Given the description of an element on the screen output the (x, y) to click on. 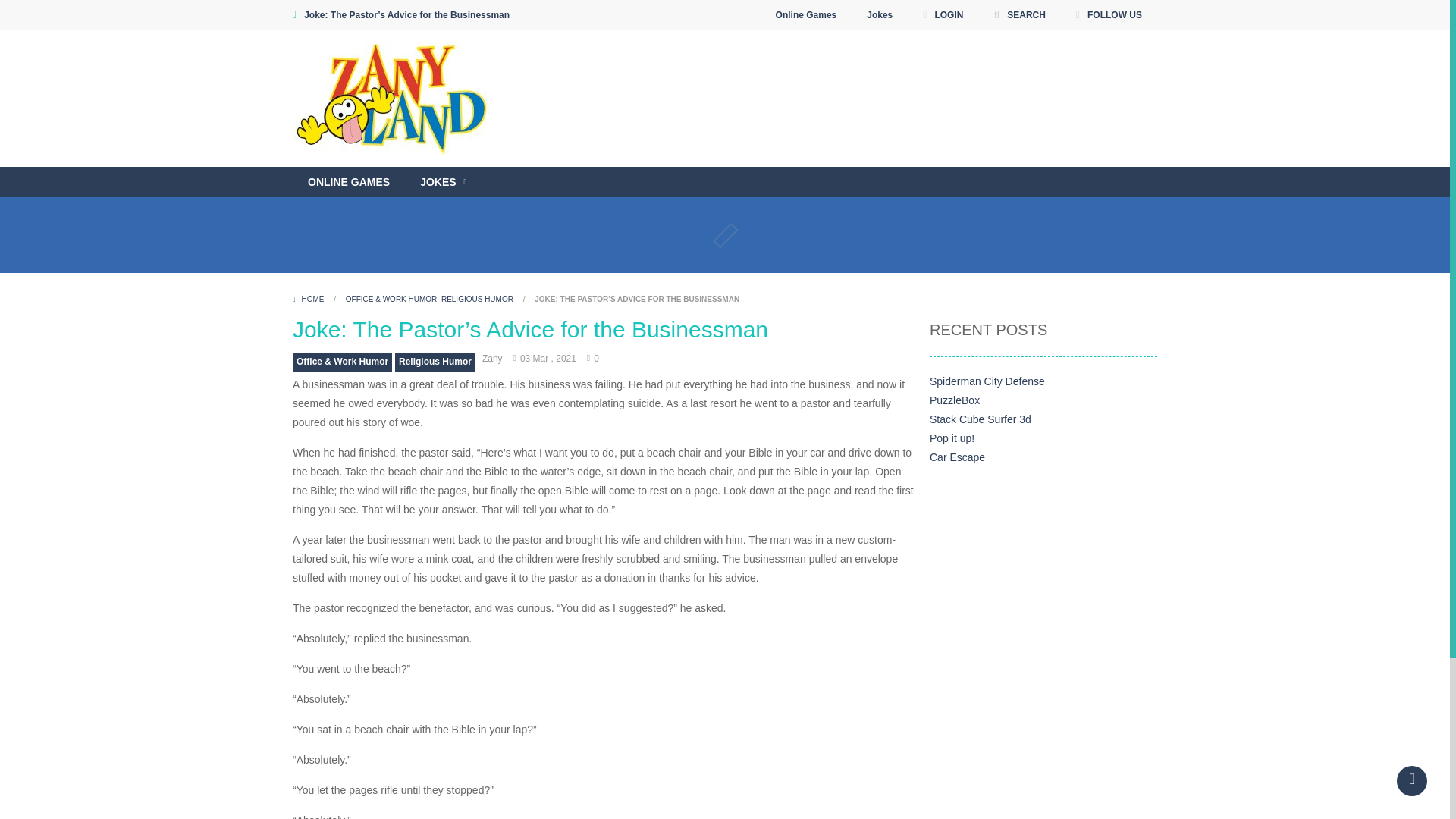
YouTube video player (817, 160)
SEARCH (1019, 15)
JOKES (442, 182)
Play Free Games at ZanyLand (394, 97)
ONLINE GAMES (348, 182)
FOLLOW US (1108, 15)
LOGIN (942, 15)
Online Games (806, 15)
Play Free Games at ZanyLand (394, 98)
Jokes (880, 15)
